Given the description of an element on the screen output the (x, y) to click on. 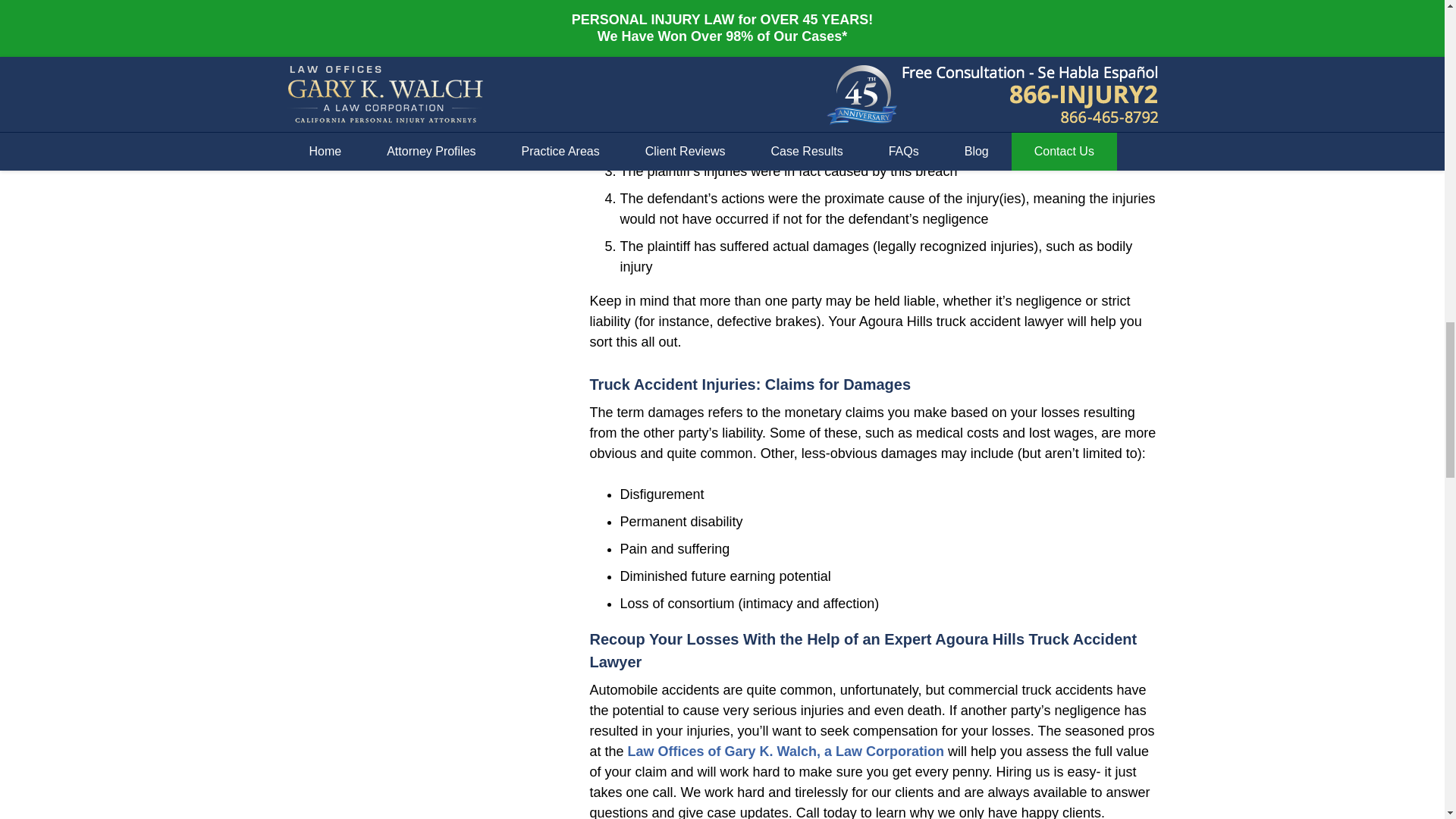
Law Offices of Gary K. Walch, a Law Corporation (785, 751)
